Given the description of an element on the screen output the (x, y) to click on. 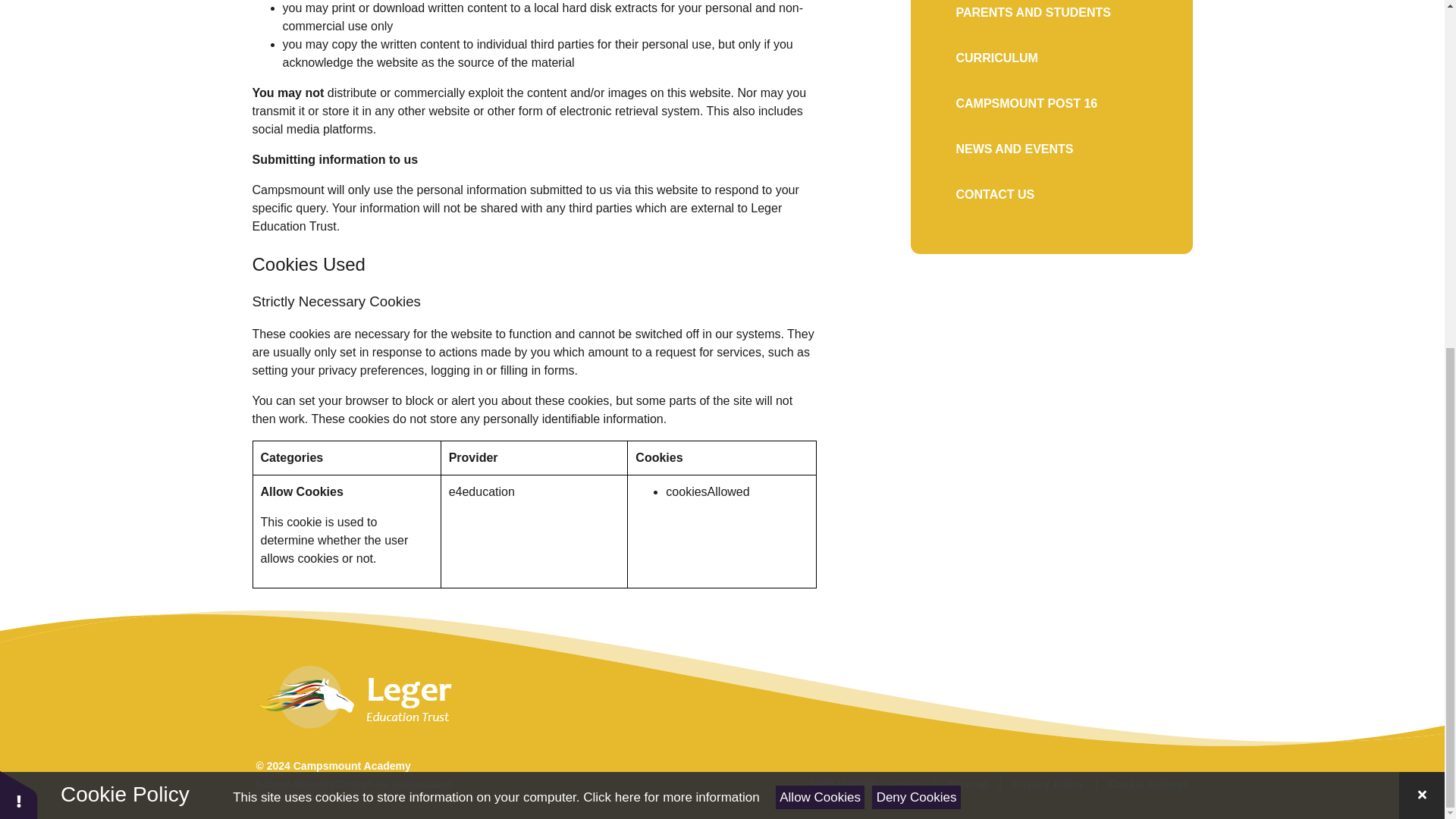
Deny Cookies (915, 197)
Allow Cookies (820, 197)
Cookie Settings (1148, 784)
See cookie policy (670, 197)
